Given the description of an element on the screen output the (x, y) to click on. 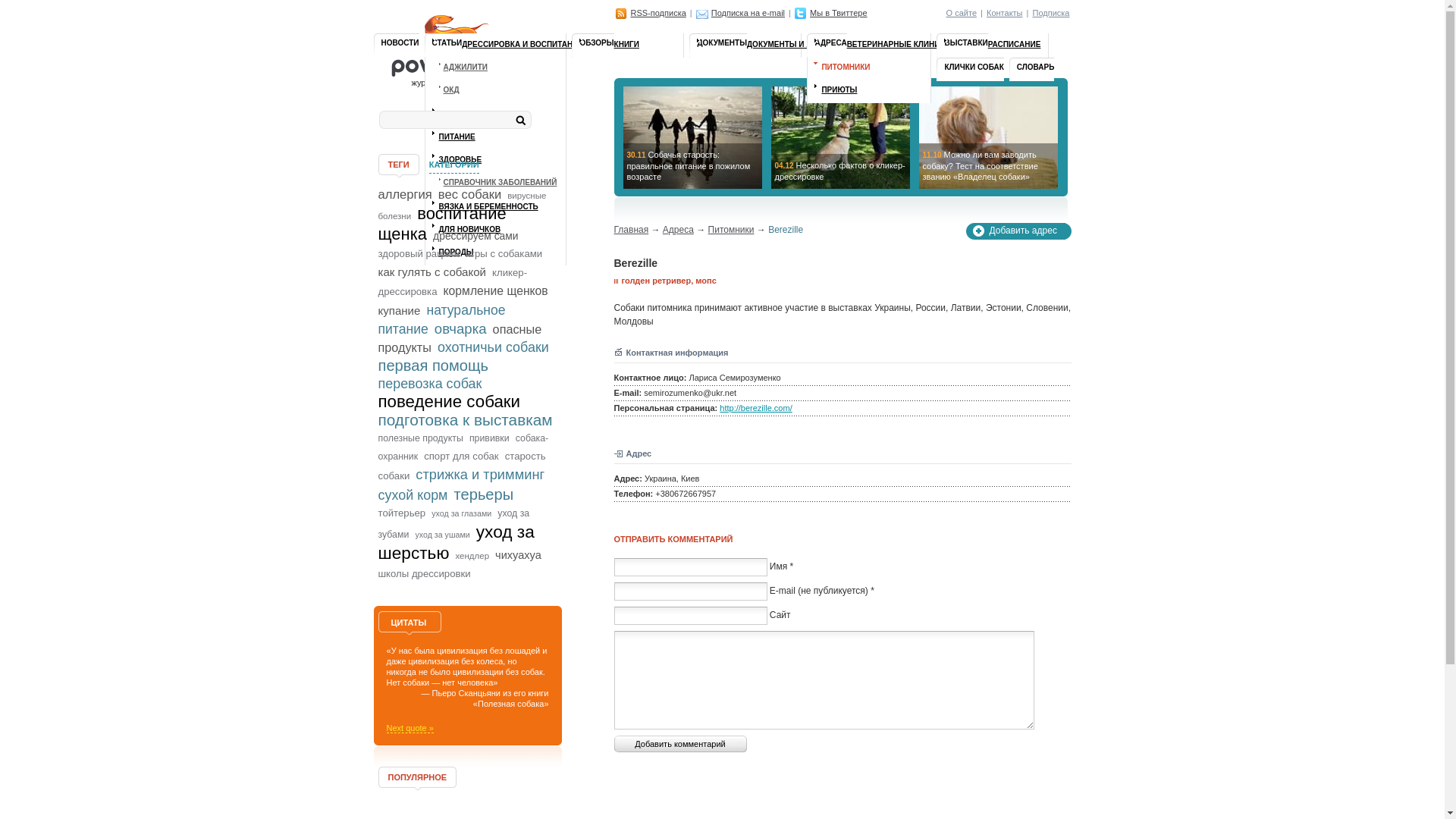
http://berezille.com/ Element type: text (755, 407)
